Given the description of an element on the screen output the (x, y) to click on. 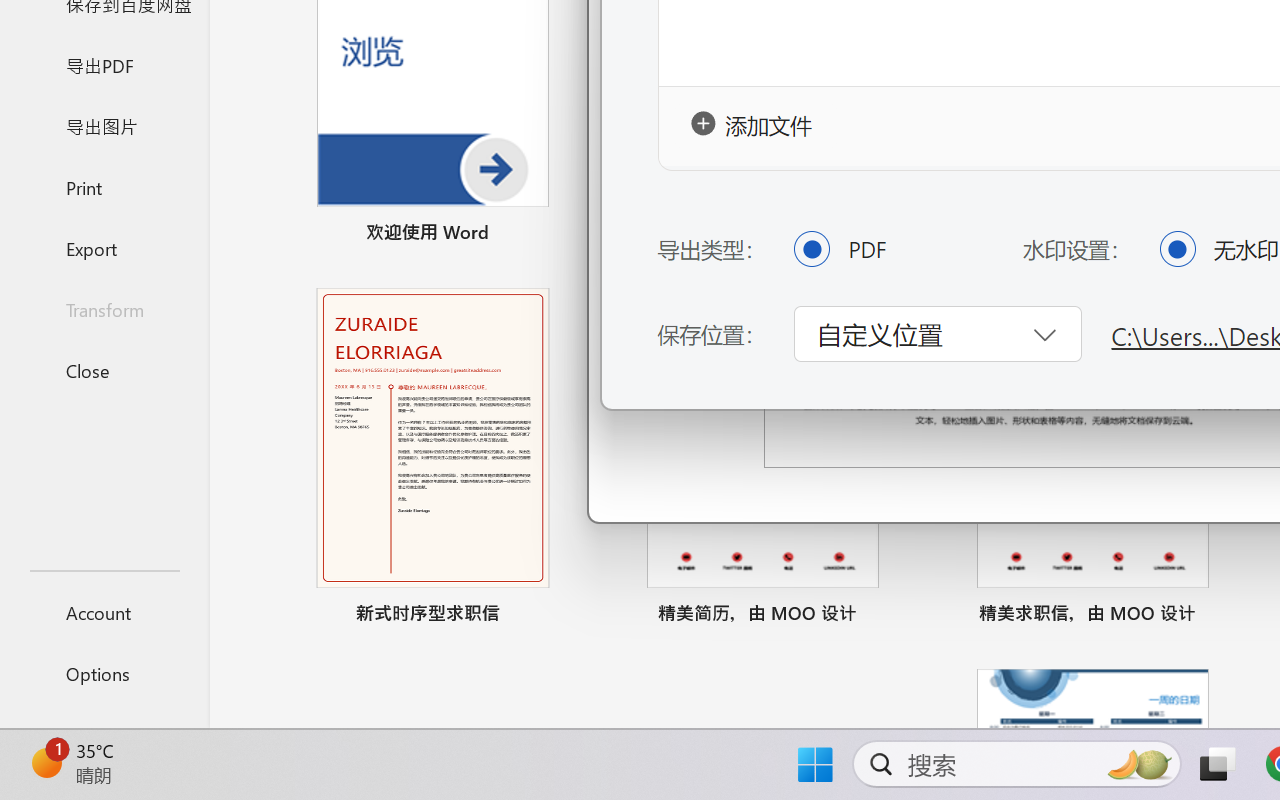
Account (104, 612)
